Given the description of an element on the screen output the (x, y) to click on. 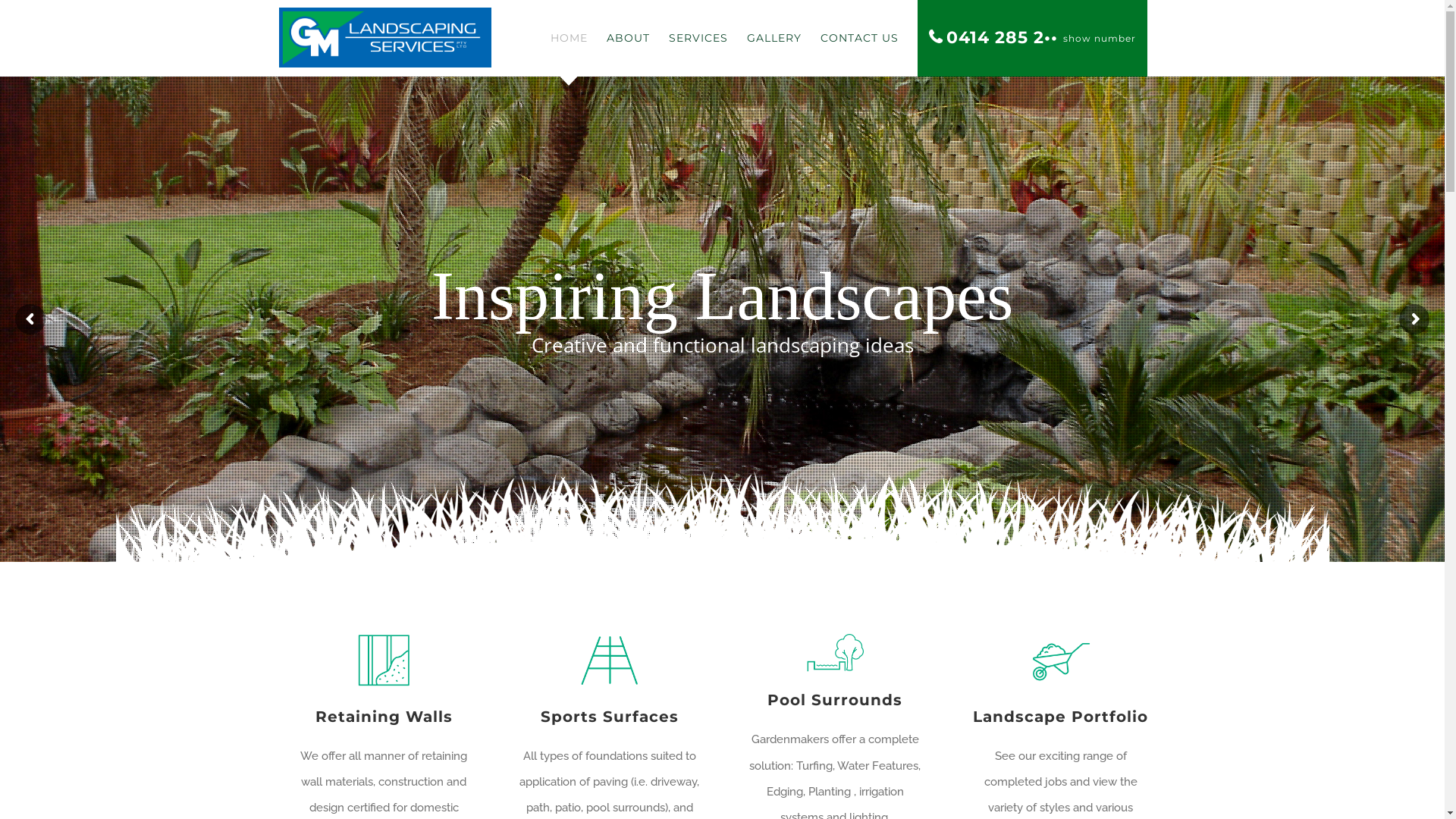
CONTACT US Element type: text (859, 38)
HOME Element type: text (568, 38)
pathway_icon_col Element type: hover (609, 660)
pool_surround Element type: hover (834, 652)
SERVICES Element type: text (698, 38)
ABOUT Element type: text (627, 38)
portfolio_icon_col Element type: hover (1060, 660)
retaining_wall_icon_col Element type: hover (383, 660)
GALLERY Element type: text (773, 38)
